Given the description of an element on the screen output the (x, y) to click on. 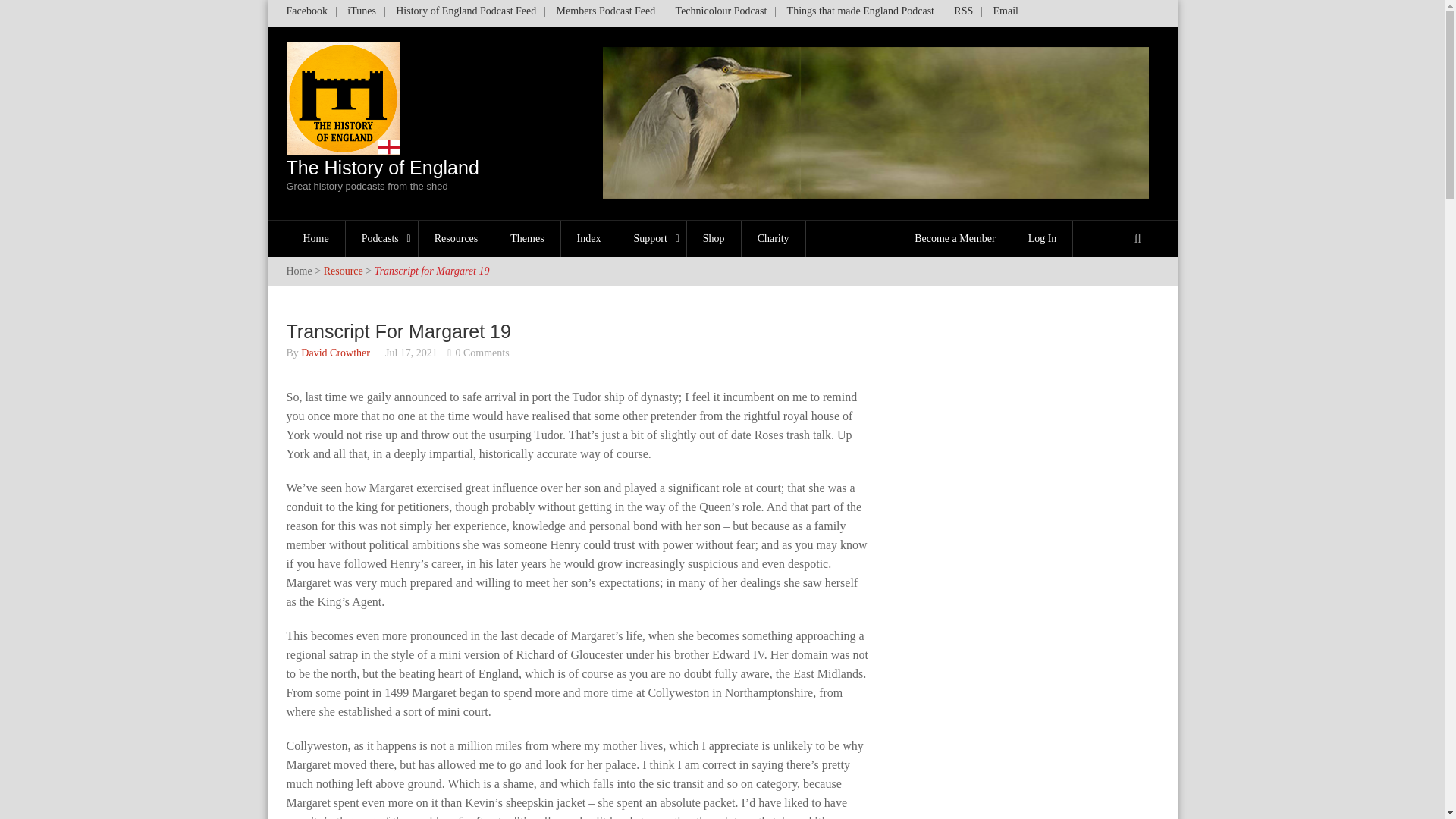
History of England Podcast Feed (465, 13)
Technicolour Podcast (721, 13)
iTunes (361, 13)
Themes (527, 238)
Shop (382, 173)
Podcasts (714, 238)
Facebook (382, 238)
Resources (310, 13)
Index (457, 238)
